Given the description of an element on the screen output the (x, y) to click on. 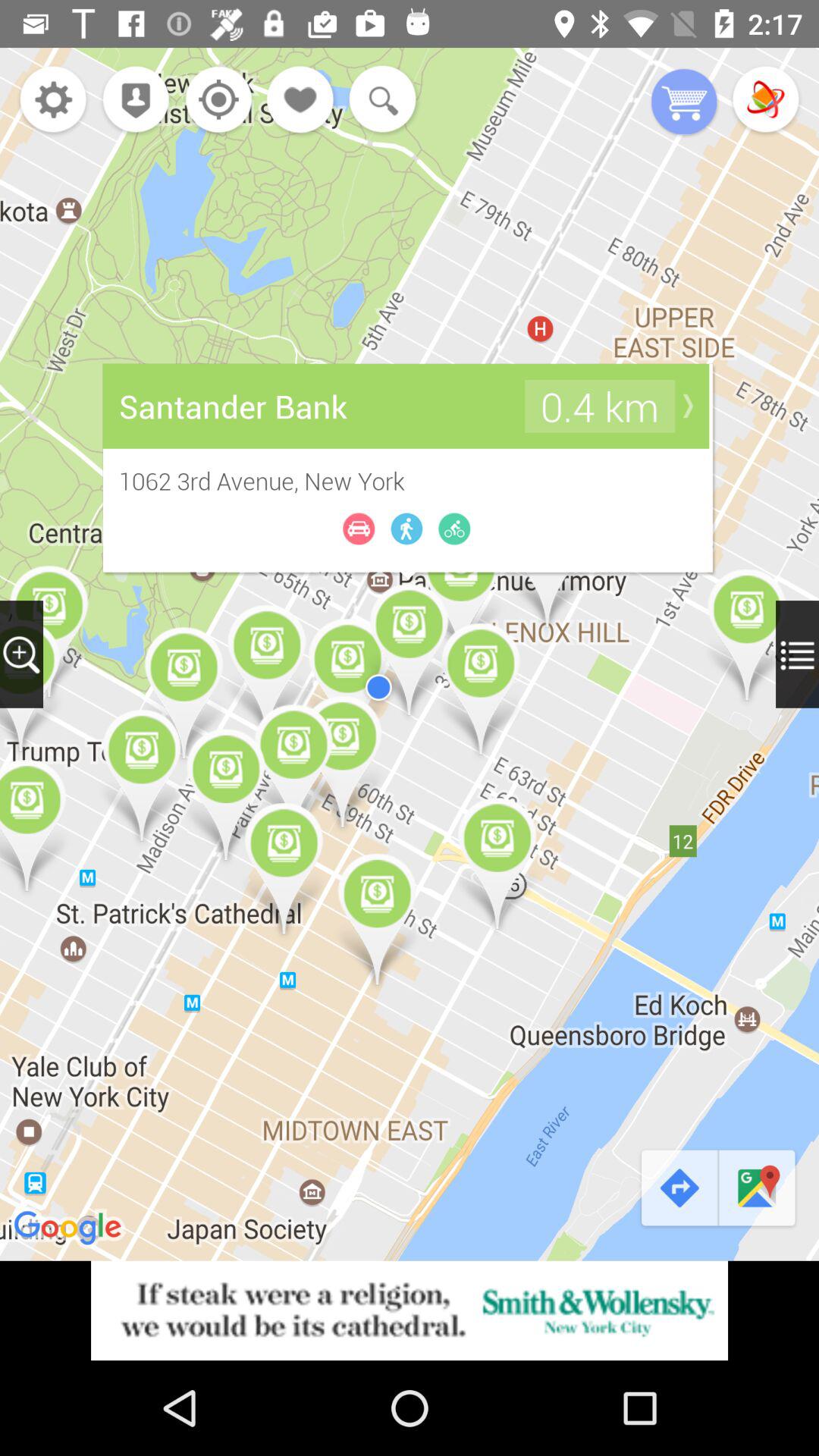
rotate the map view (765, 100)
